Given the description of an element on the screen output the (x, y) to click on. 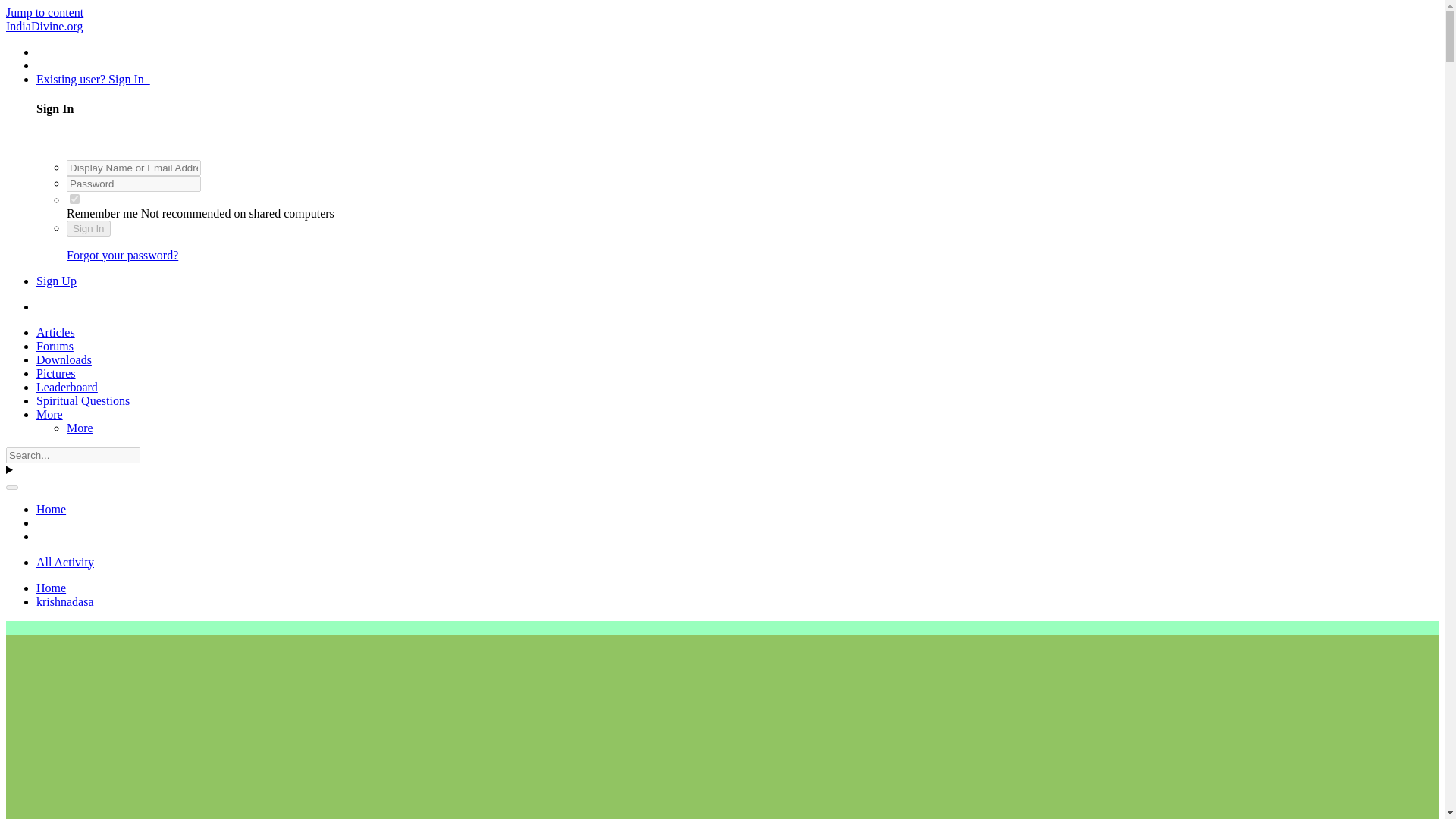
1 (74, 198)
Articles (55, 332)
Home (50, 587)
Sign Up (56, 280)
Jump to content (43, 11)
Forums (55, 345)
Home (50, 508)
More (49, 413)
Pictures (55, 373)
krishnadasa (65, 601)
